Given the description of an element on the screen output the (x, y) to click on. 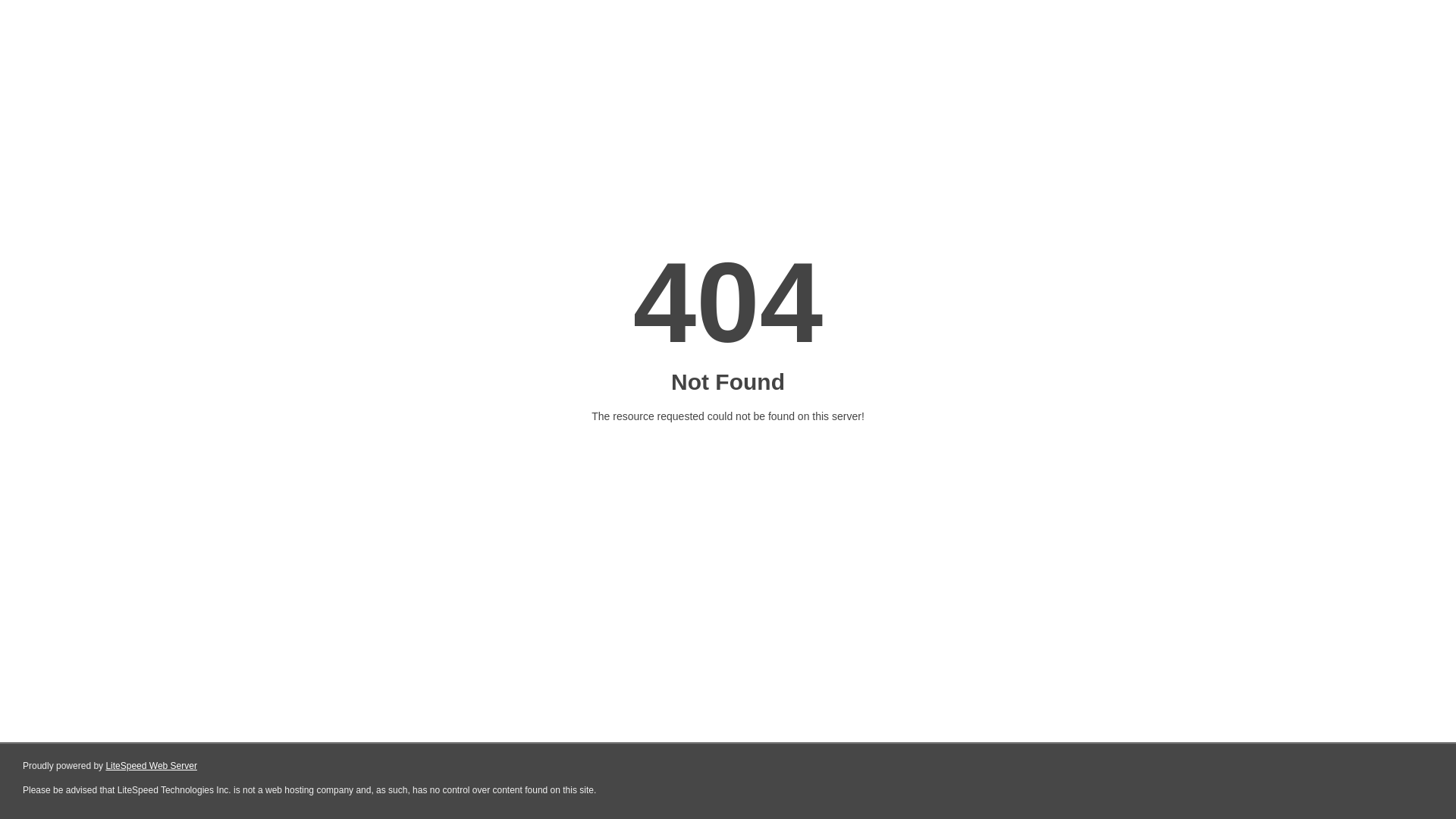
LiteSpeed Web Server Element type: text (151, 765)
